Given the description of an element on the screen output the (x, y) to click on. 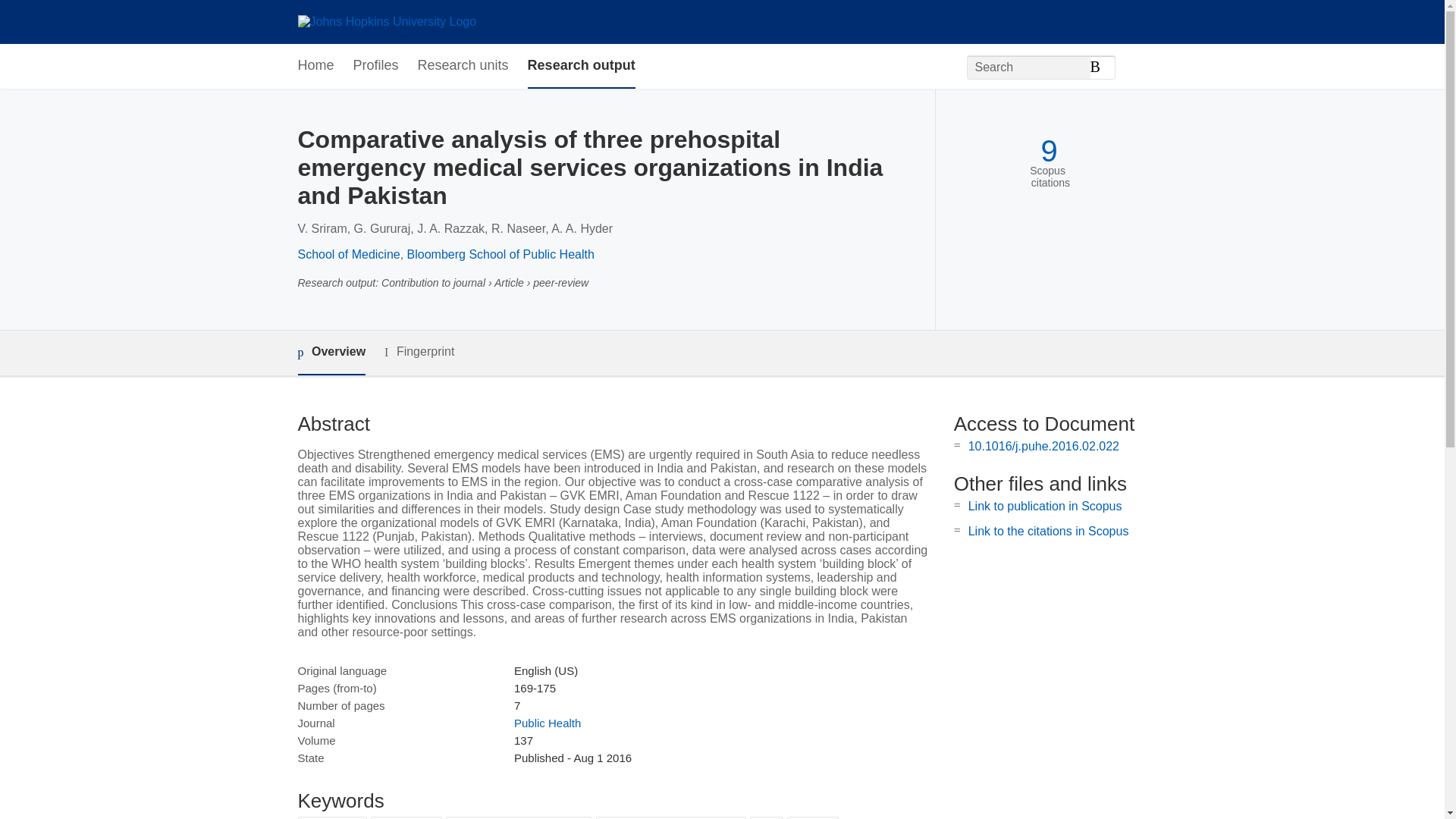
Profiles (375, 66)
Overview (331, 352)
School of Medicine (347, 254)
Public Health (546, 722)
Fingerprint (419, 351)
Research output (580, 66)
Bloomberg School of Public Health (500, 254)
Johns Hopkins University Home (386, 21)
Research units (462, 66)
